Given the description of an element on the screen output the (x, y) to click on. 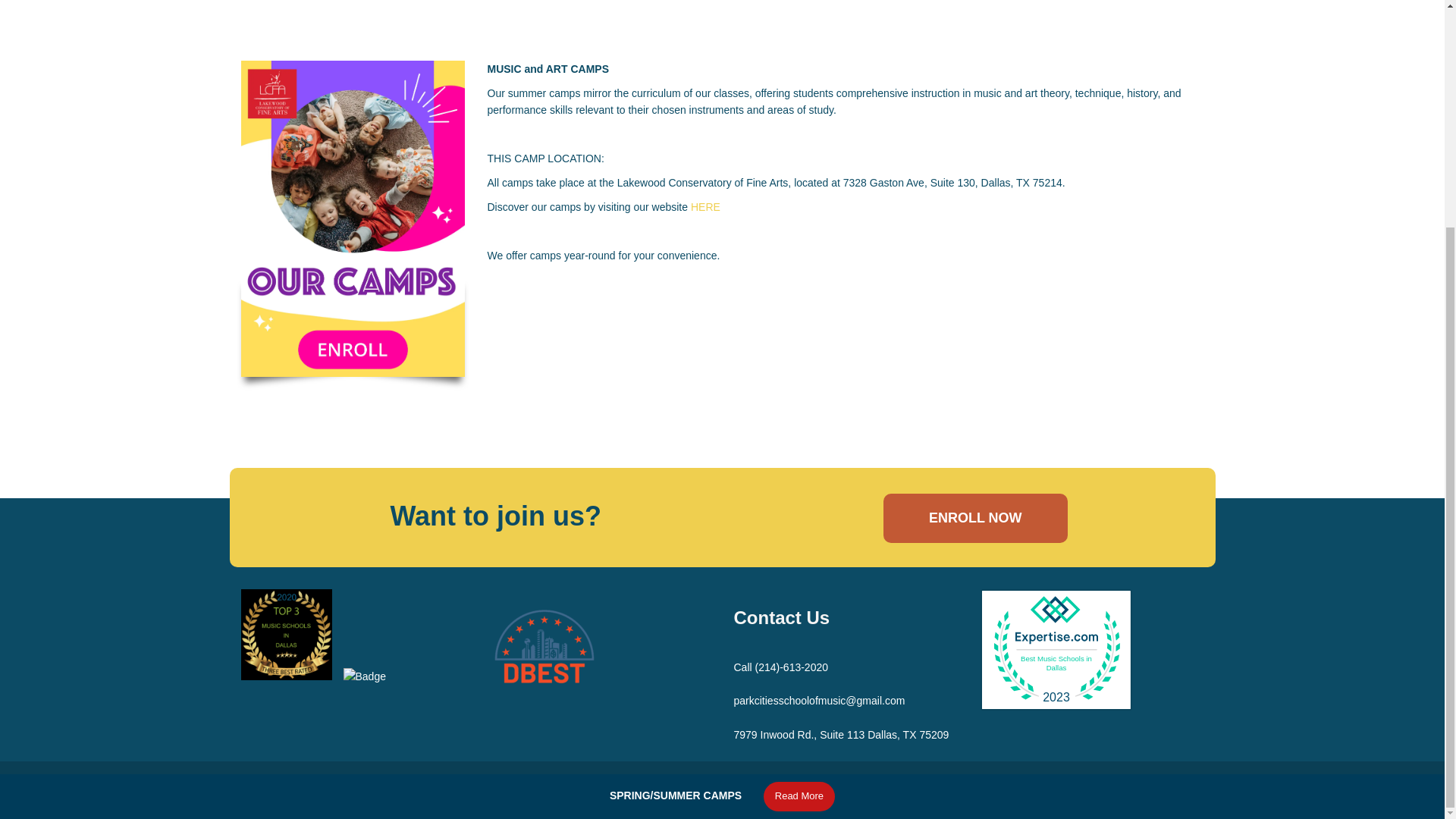
Park Cities School Of Music, Music Schools, Dallas, TX (286, 676)
ENROLL NOW (975, 517)
HERE (705, 206)
